Given the description of an element on the screen output the (x, y) to click on. 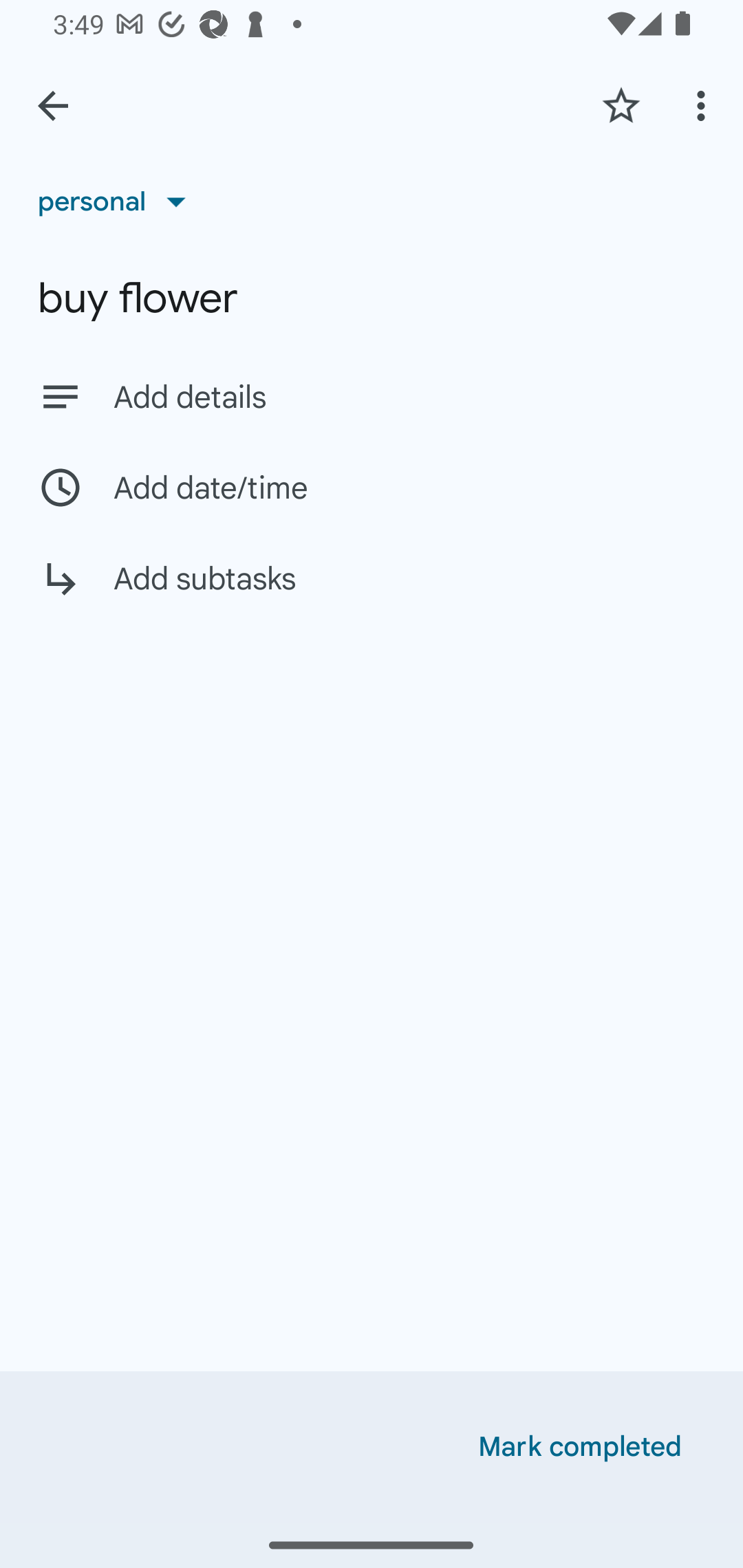
Back (53, 105)
Add star (620, 105)
More options (704, 105)
personal List, personal selected, 1 of 19 (118, 201)
buy flower (371, 298)
Add details (371, 396)
Add details (409, 397)
Add date/time (371, 487)
Add subtasks (371, 593)
Mark completed (580, 1446)
